Given the description of an element on the screen output the (x, y) to click on. 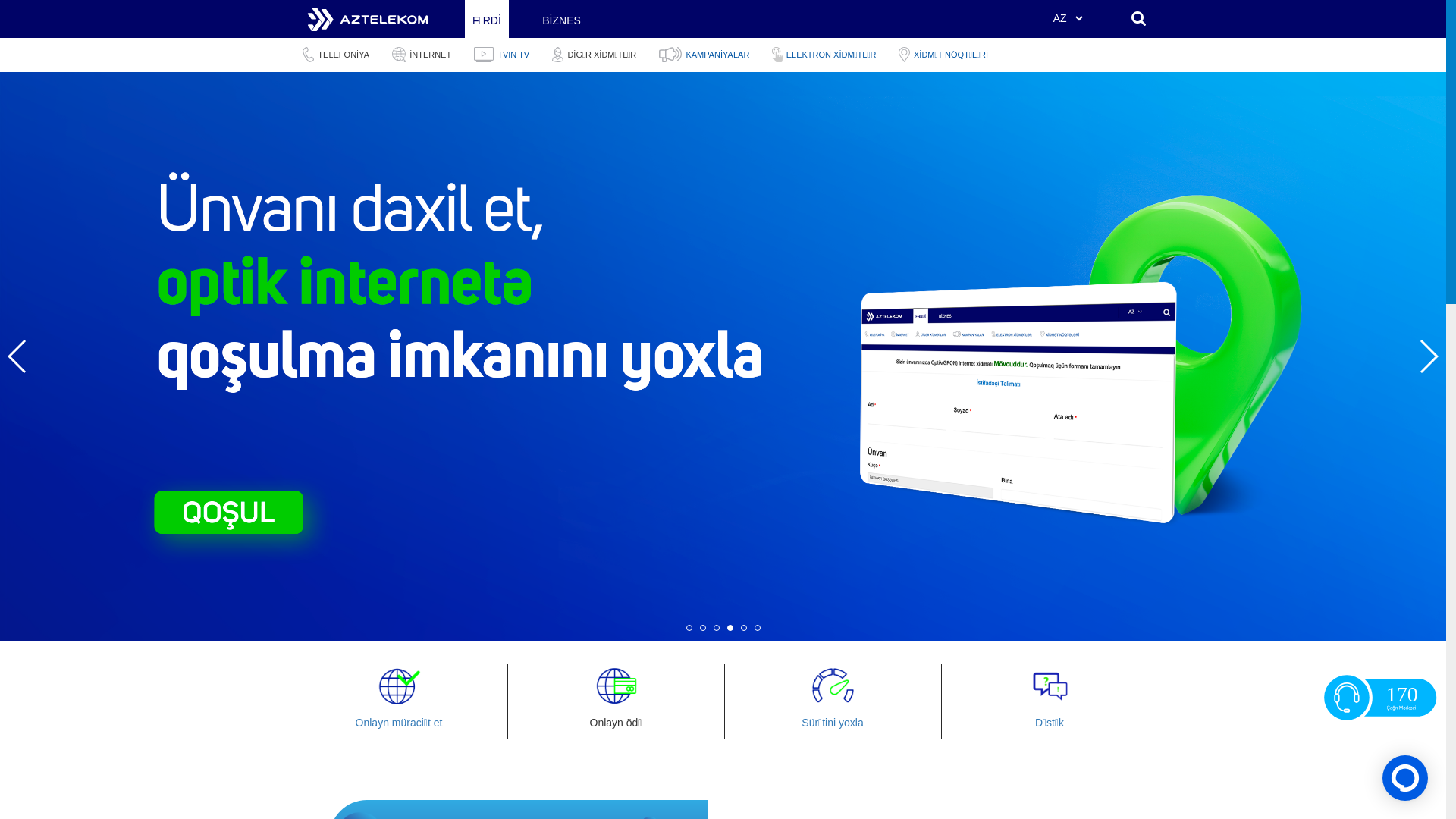
TVIN TV Element type: text (501, 54)
